Given the description of an element on the screen output the (x, y) to click on. 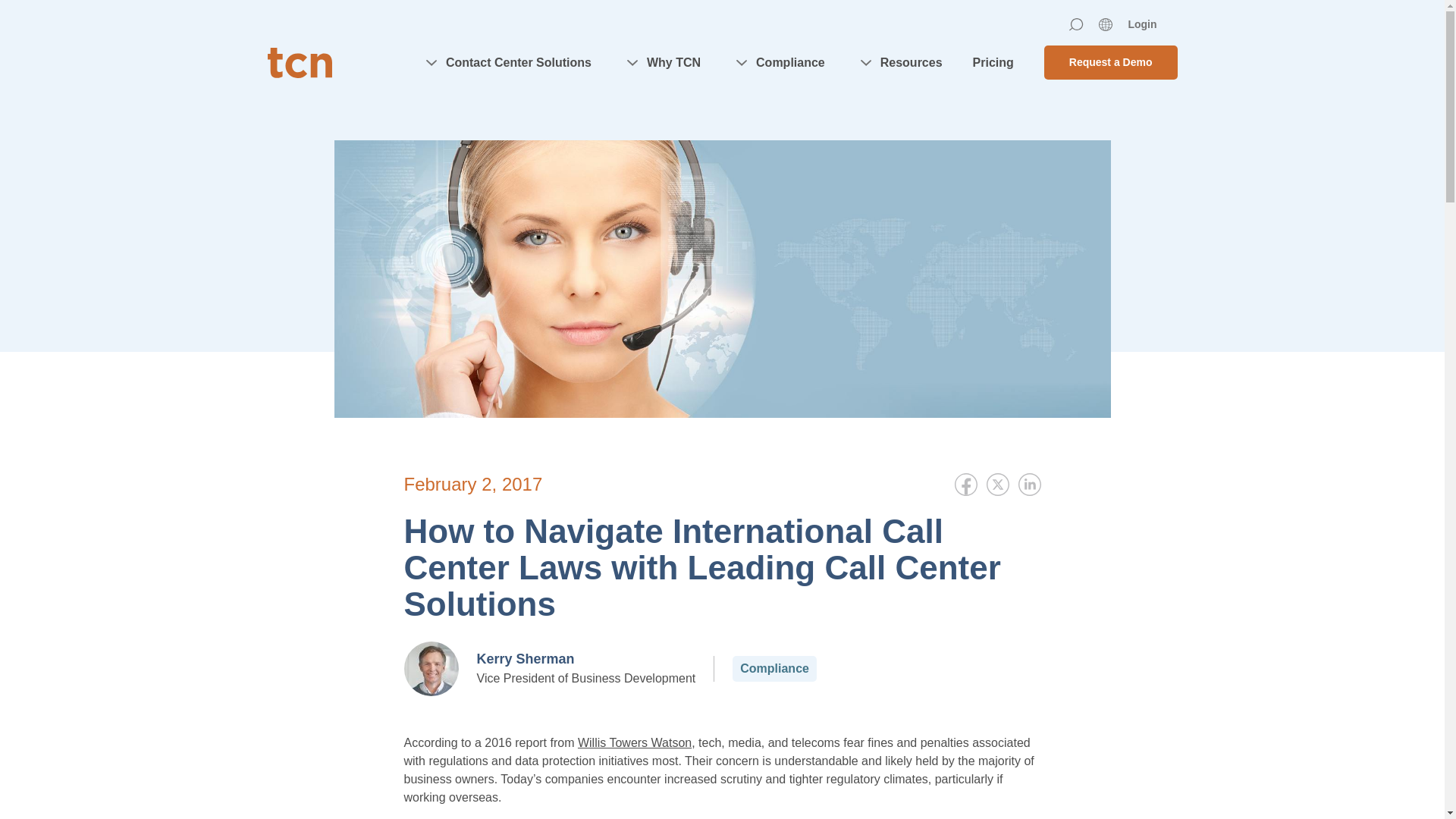
Login (1141, 24)
Contact Center Solutions (506, 61)
TCN (298, 61)
Share on Facebook (964, 484)
Share on Twitter (997, 484)
Region (1105, 24)
Share on LinkedIn (1029, 484)
Why TCN (661, 61)
